Given the description of an element on the screen output the (x, y) to click on. 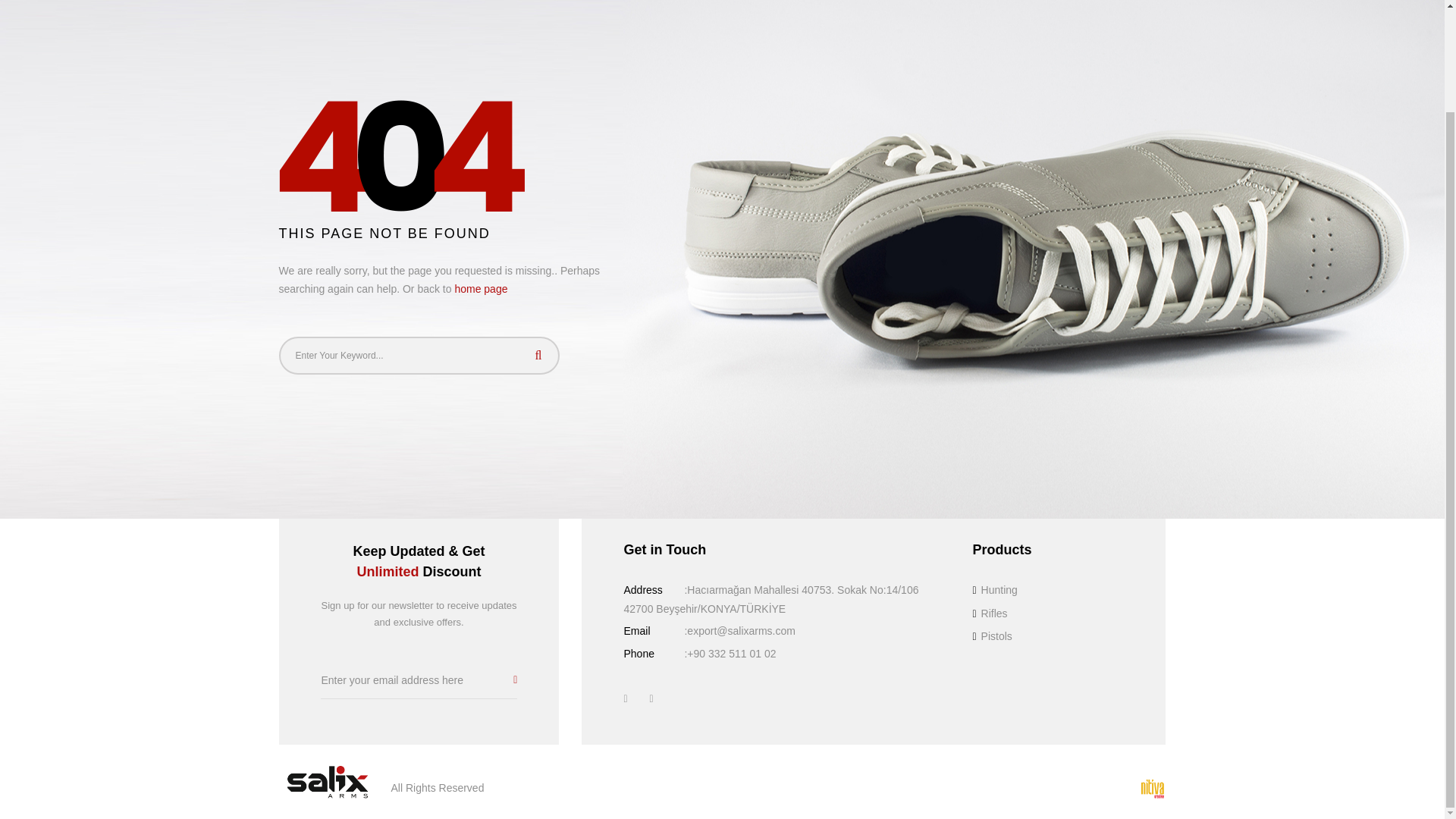
Pistols (991, 635)
Hunting (994, 589)
home page (480, 288)
Rifles (989, 612)
